Given the description of an element on the screen output the (x, y) to click on. 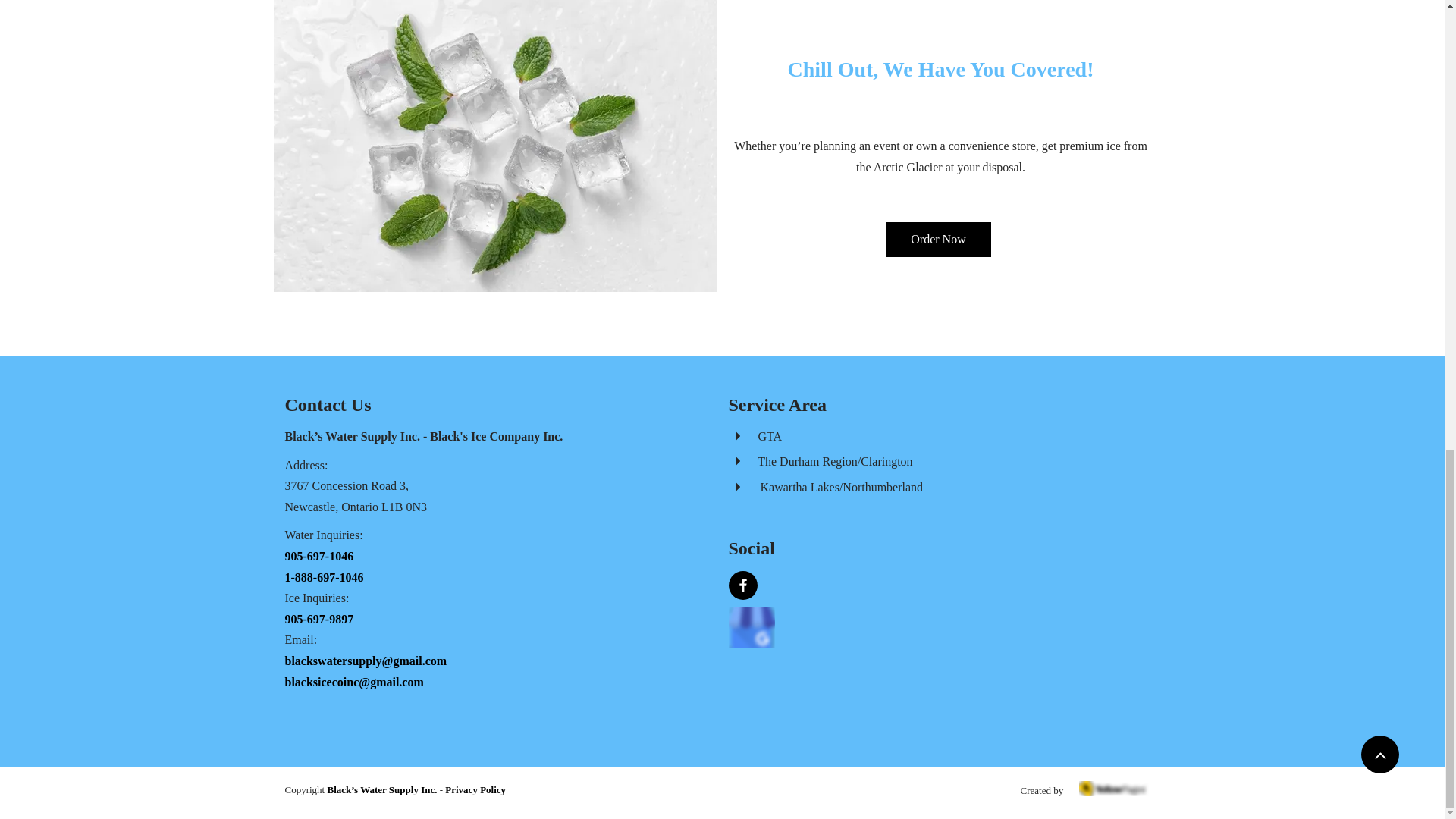
Order Now (937, 239)
Privacy Policy (473, 789)
